Given the description of an element on the screen output the (x, y) to click on. 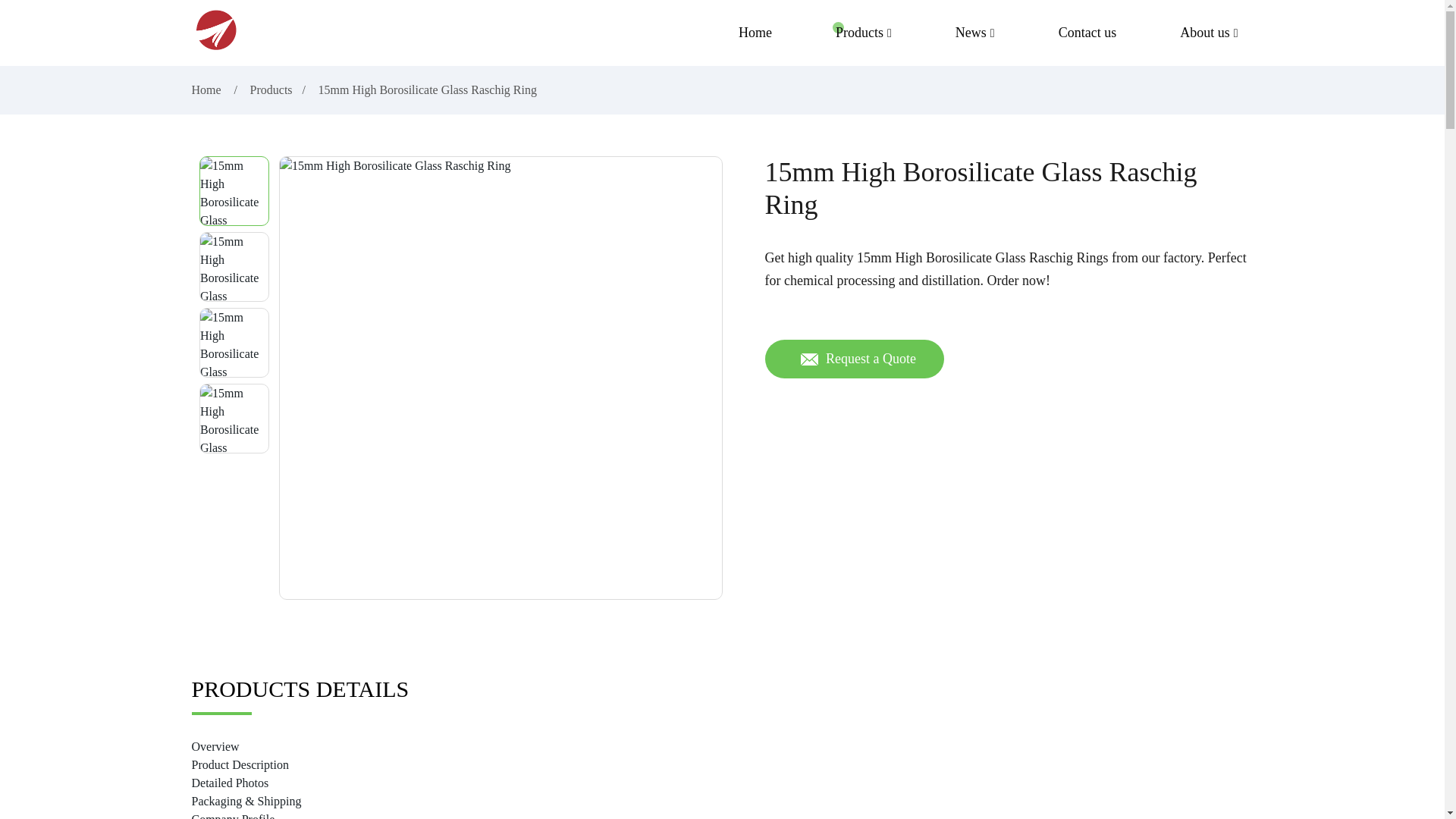
Products (864, 33)
News (975, 33)
Home (207, 89)
Products (271, 89)
Contact us (1087, 33)
Request a Quote (853, 358)
About us (1208, 33)
Home (755, 33)
